Given the description of an element on the screen output the (x, y) to click on. 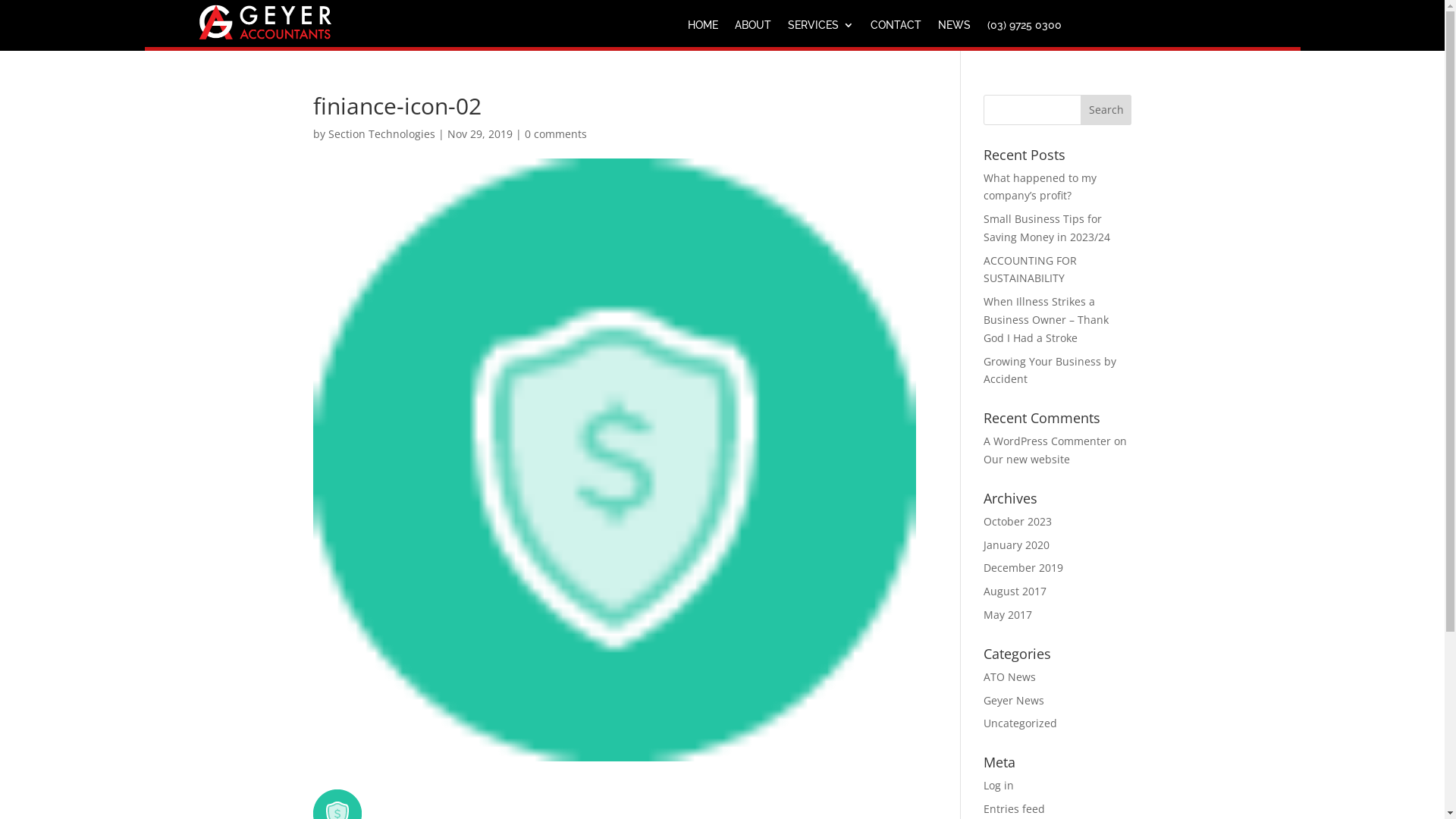
0 comments Element type: text (555, 132)
Our new website Element type: text (1026, 458)
January 2020 Element type: text (1016, 544)
A WordPress Commenter Element type: text (1046, 440)
HOME Element type: text (702, 27)
Uncategorized Element type: text (1020, 722)
August 2017 Element type: text (1014, 590)
May 2017 Element type: text (1007, 614)
ACCOUNTING FOR SUSTAINABILITY Element type: text (1029, 269)
Growing Your Business by Accident Element type: text (1049, 370)
Small Business Tips for Saving Money in 2023/24 Element type: text (1046, 227)
Search Element type: text (1106, 109)
Geyer News Element type: text (1013, 700)
Section Technologies Element type: text (380, 132)
Log in Element type: text (998, 785)
October 2023 Element type: text (1017, 521)
December 2019 Element type: text (1023, 567)
ATO News Element type: text (1009, 676)
ABOUT Element type: text (752, 27)
NEWS Element type: text (954, 27)
CONTACT Element type: text (895, 27)
SERVICES Element type: text (820, 27)
Entries feed Element type: text (1013, 808)
(03) 9725 0300 Element type: text (1024, 27)
